Given the description of an element on the screen output the (x, y) to click on. 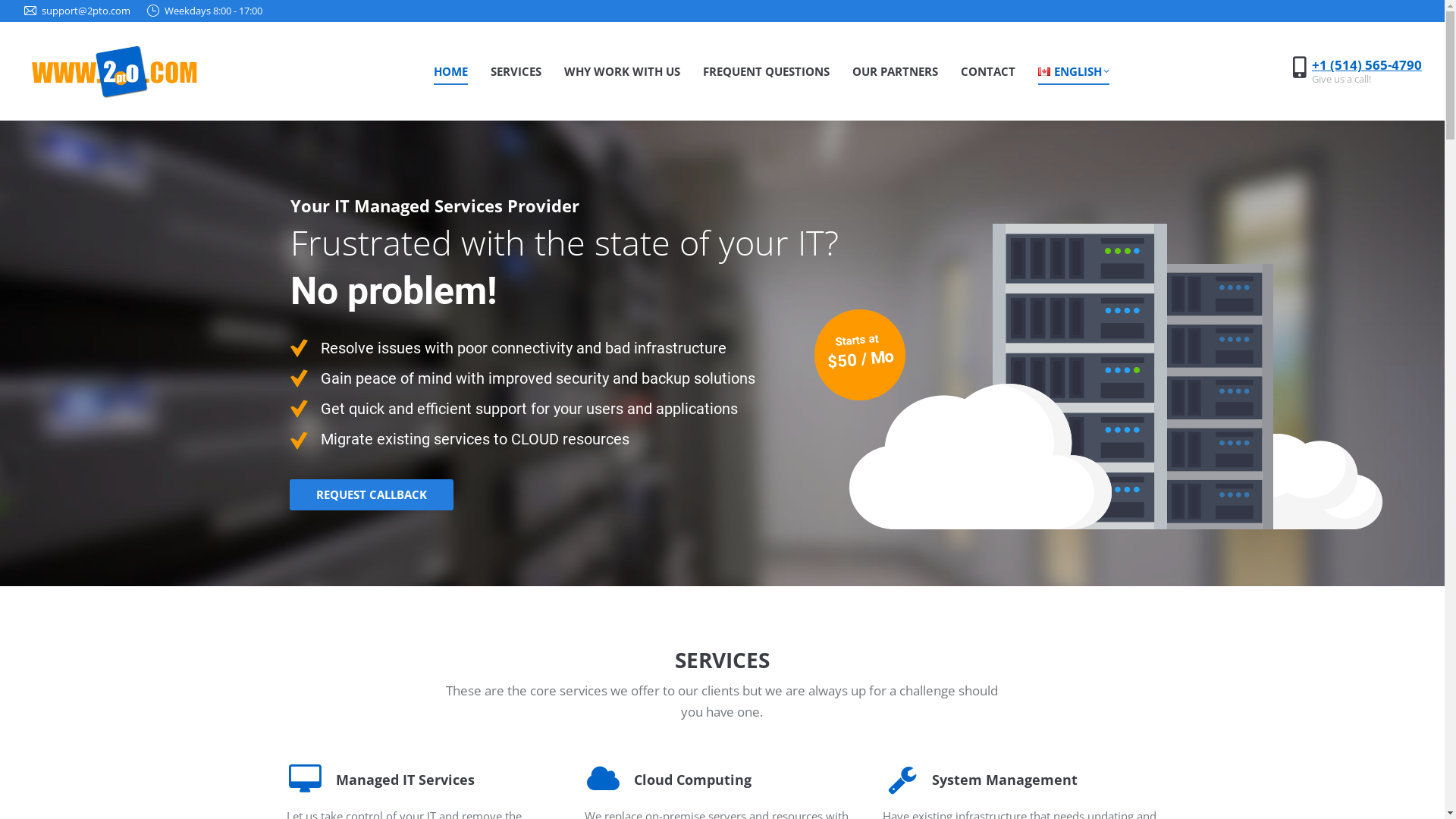
CONTACT Element type: text (987, 70)
+1 (514) 565-4790 Element type: text (1366, 64)
HOME Element type: text (450, 70)
ENGLISH Element type: text (1073, 70)
OUR PARTNERS Element type: text (894, 70)
FREQUENT QUESTIONS Element type: text (766, 70)
SERVICES Element type: text (516, 70)
WHY WORK WITH US Element type: text (621, 70)
